Given the description of an element on the screen output the (x, y) to click on. 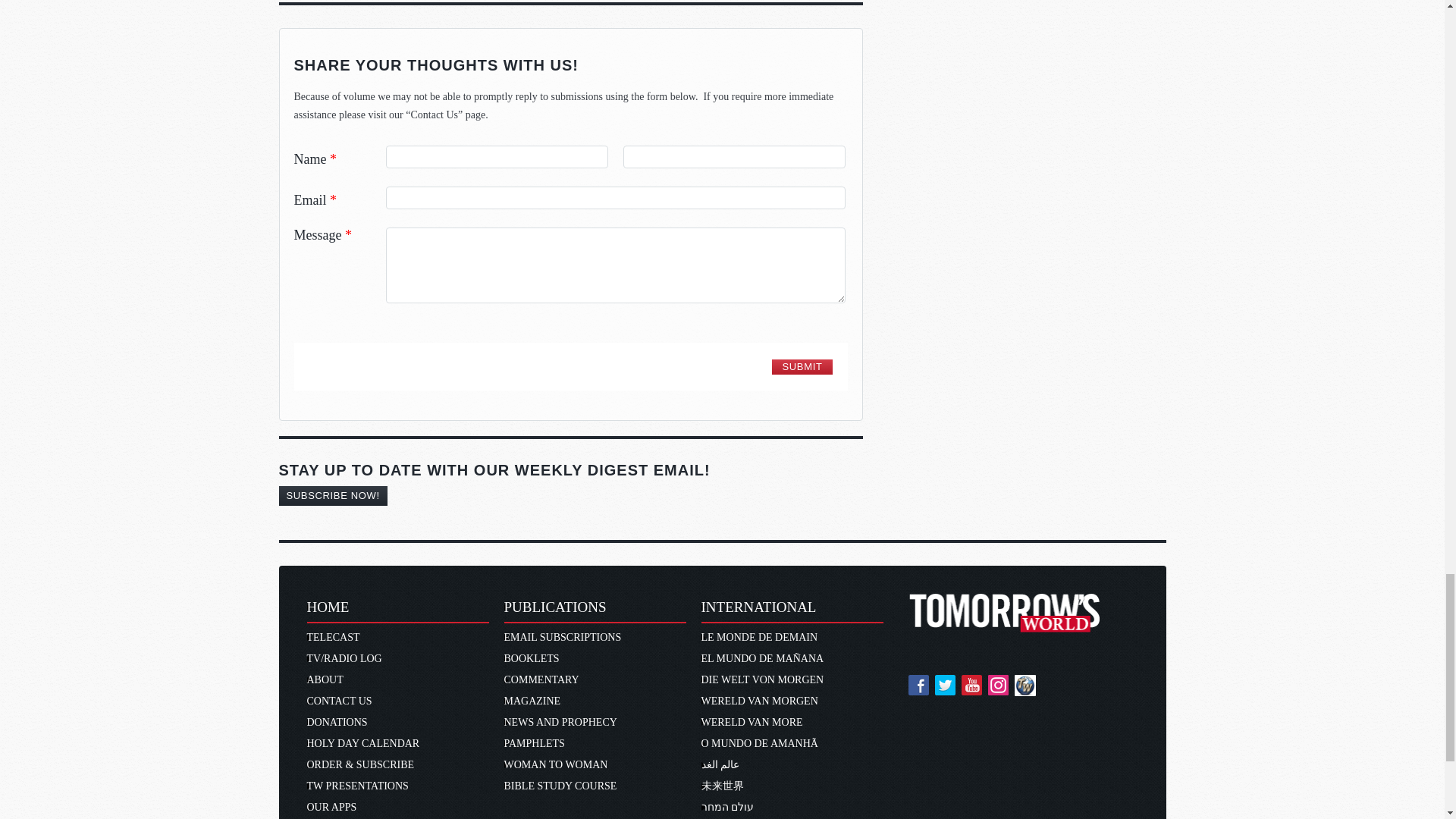
Submit (801, 366)
This field is required. (333, 200)
This field is required. (333, 159)
Submit (801, 366)
This field is required. (348, 234)
SUBSCRIBE NOW! (333, 496)
This field is required. (689, 152)
